Given the description of an element on the screen output the (x, y) to click on. 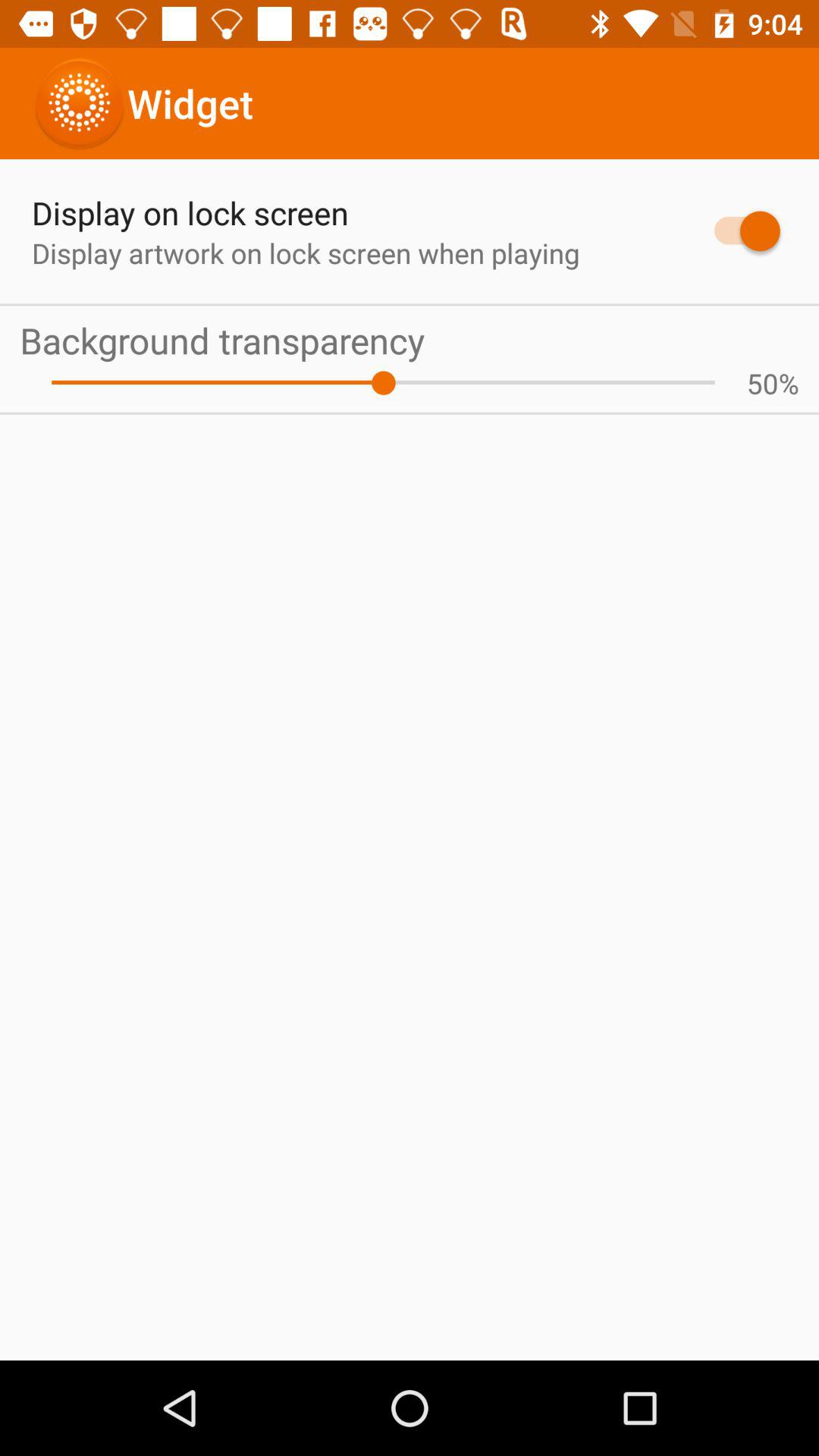
press app below background transparency item (788, 383)
